Given the description of an element on the screen output the (x, y) to click on. 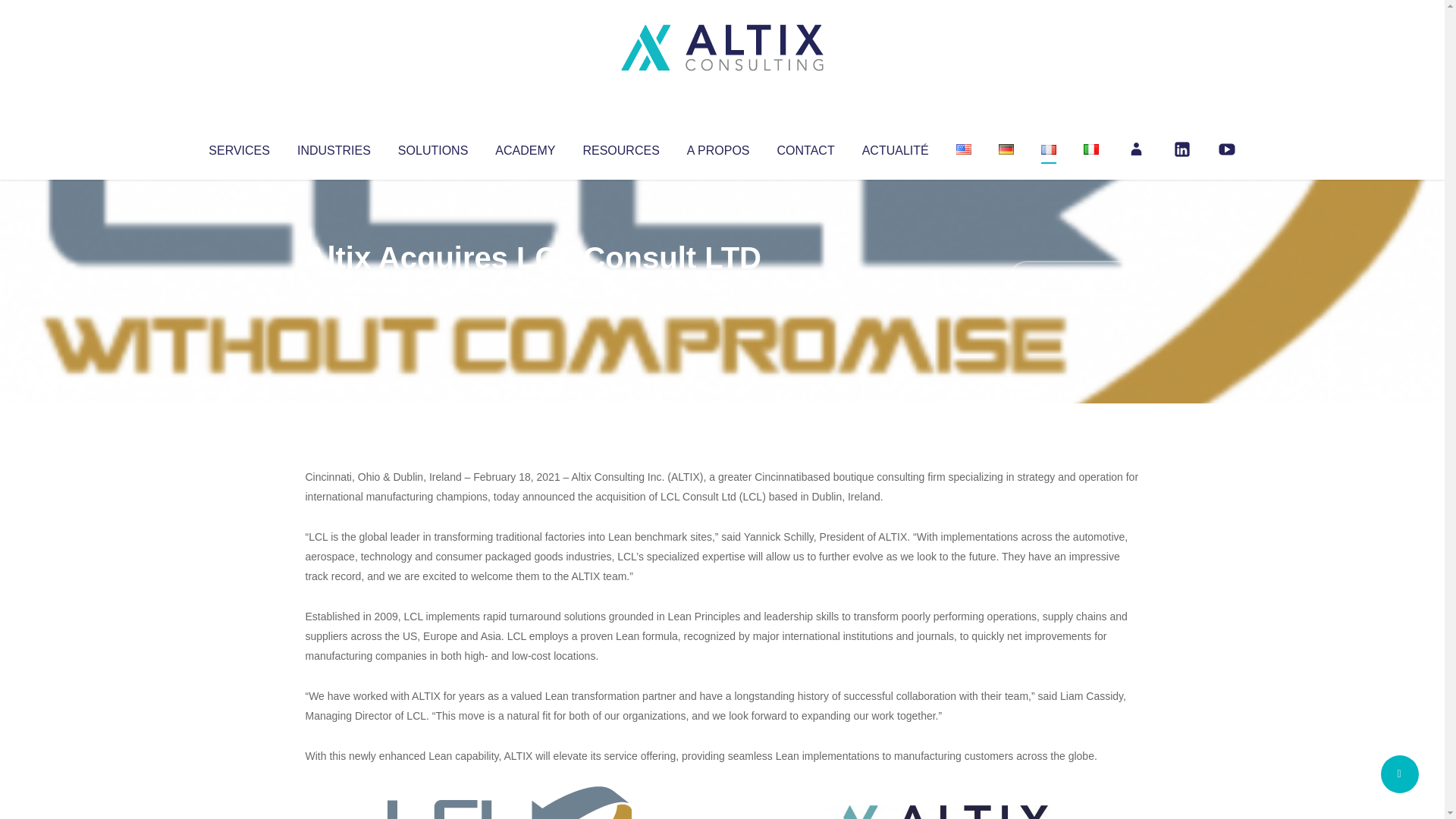
SOLUTIONS (432, 146)
No Comments (1073, 278)
RESOURCES (620, 146)
SERVICES (238, 146)
ACADEMY (524, 146)
Altix (333, 287)
Uncategorized (530, 287)
INDUSTRIES (334, 146)
Articles par Altix (333, 287)
A PROPOS (718, 146)
